Given the description of an element on the screen output the (x, y) to click on. 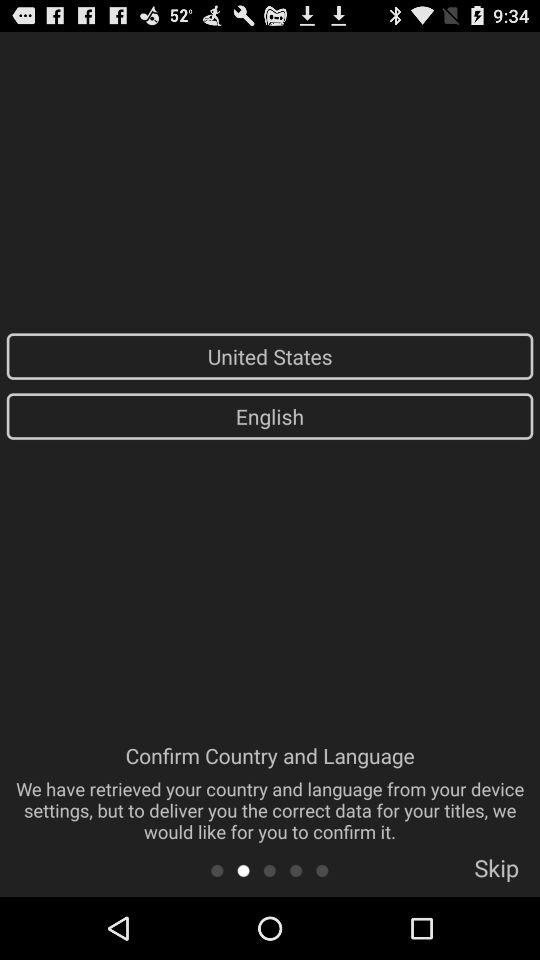
click app below confirm country and (243, 870)
